Given the description of an element on the screen output the (x, y) to click on. 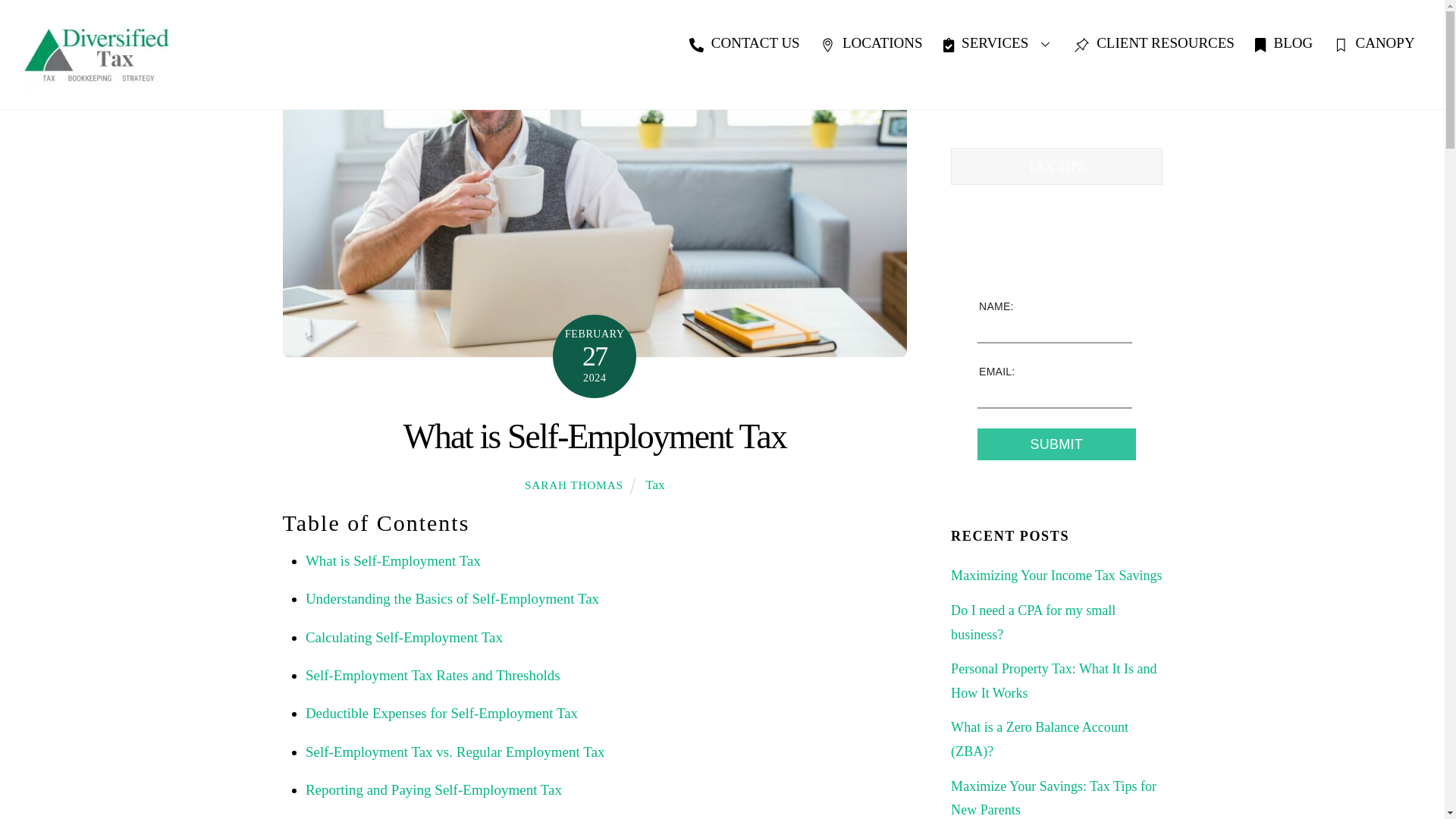
BLOG (1284, 42)
Calculating Self-Employment Tax (403, 637)
Deductible Expenses for Self-Employment Tax (441, 713)
Understanding the Basics of Self-Employment Tax (451, 598)
CANOPY (1373, 42)
Self-Employment Tax vs. Regular Employment Tax (455, 751)
LOCATIONS (871, 42)
CONTACT US (744, 42)
Self-Employment Tax Rates and Thresholds (432, 675)
SARAH THOMAS (573, 484)
